Given the description of an element on the screen output the (x, y) to click on. 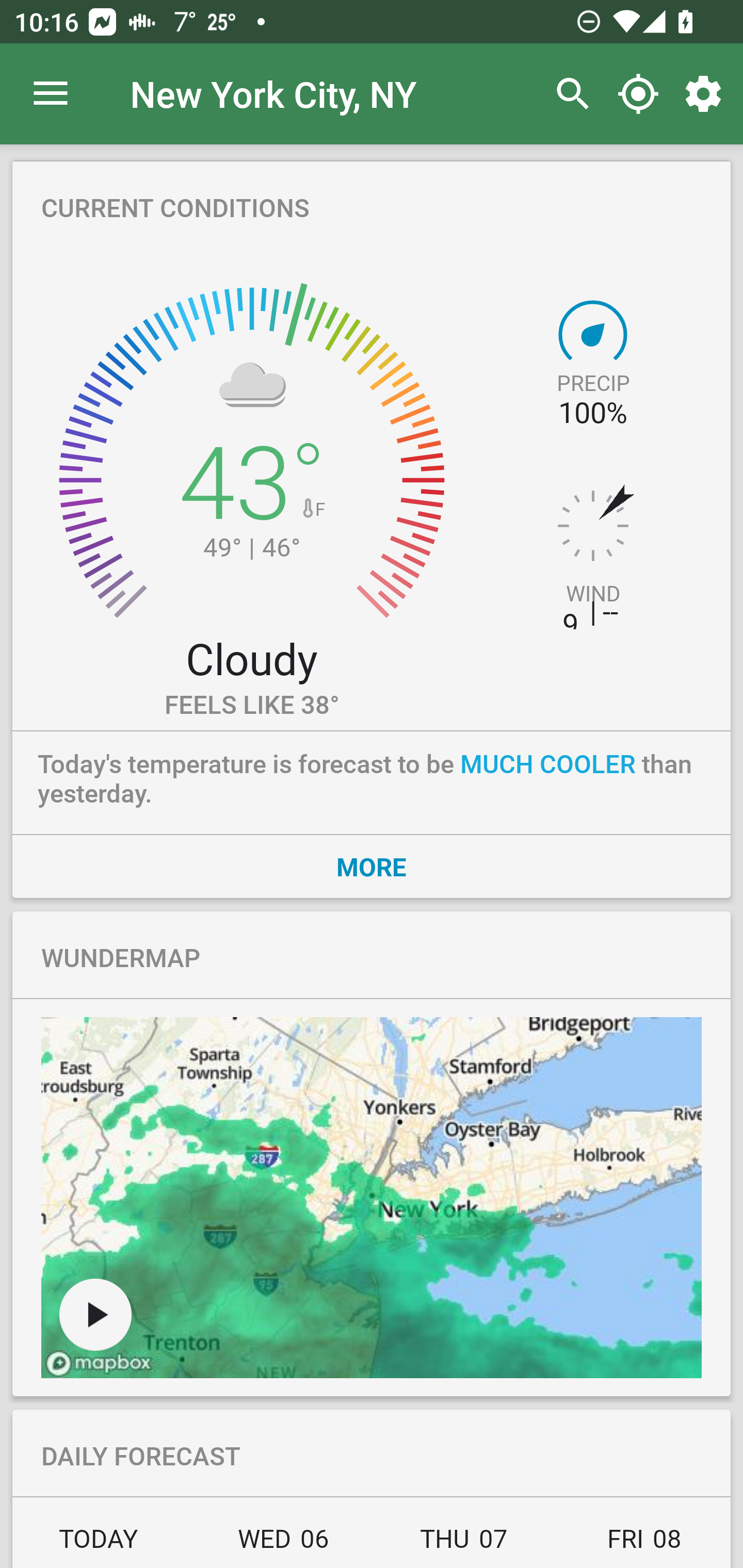
Press to open location manager. (50, 93)
Search for location (567, 94)
Select GPS location (637, 94)
Settings (706, 94)
New York City, NY (273, 92)
100% (592, 412)
Cloudy (251, 657)
MORE (371, 865)
Weather Map (371, 1197)
Weather Map (95, 1314)
TODAY (102, 1544)
WED 06 (283, 1544)
THU 07 (463, 1544)
FRI 08 (642, 1544)
